Given the description of an element on the screen output the (x, y) to click on. 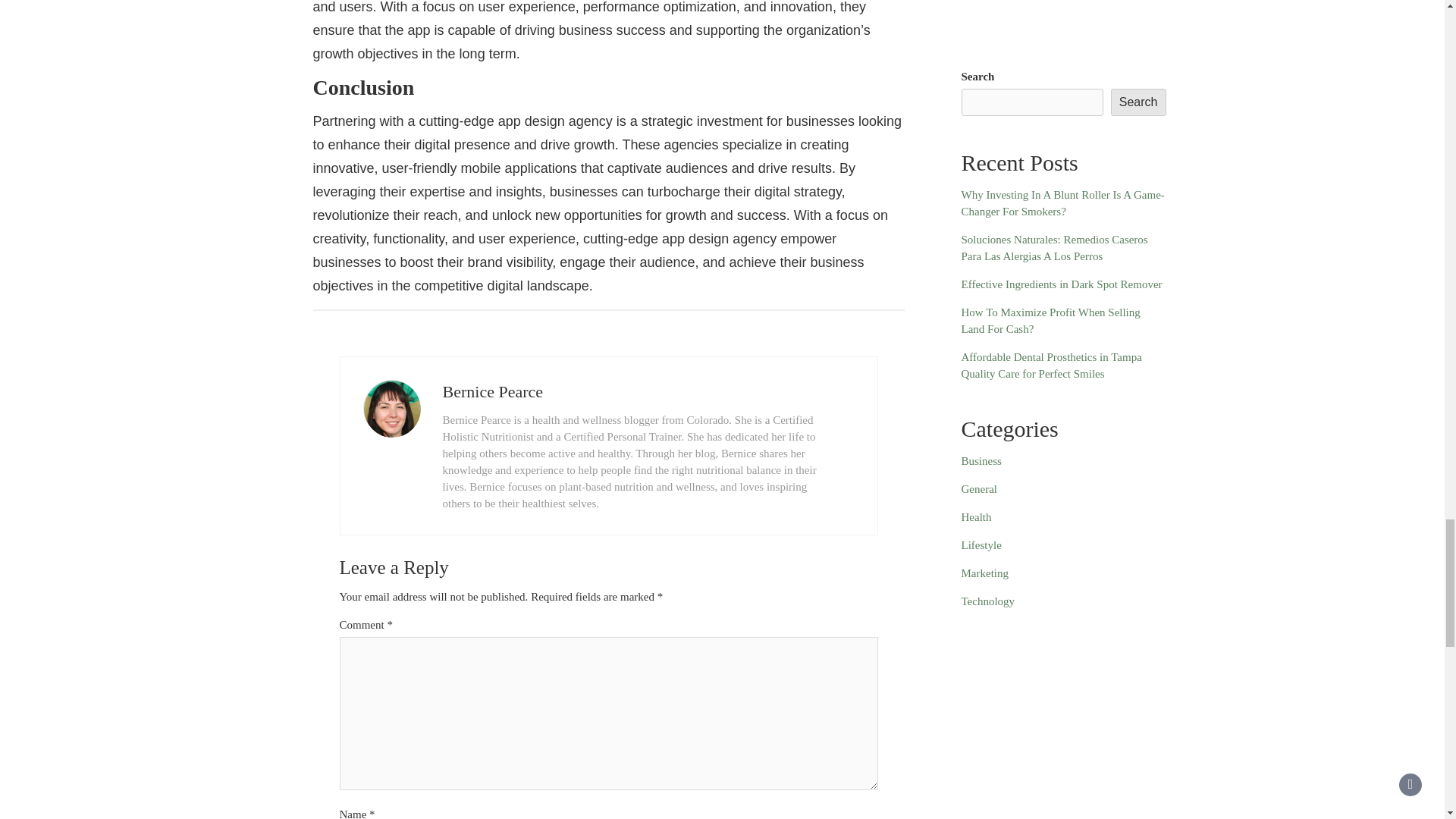
Bernice Pearce (492, 391)
